Given the description of an element on the screen output the (x, y) to click on. 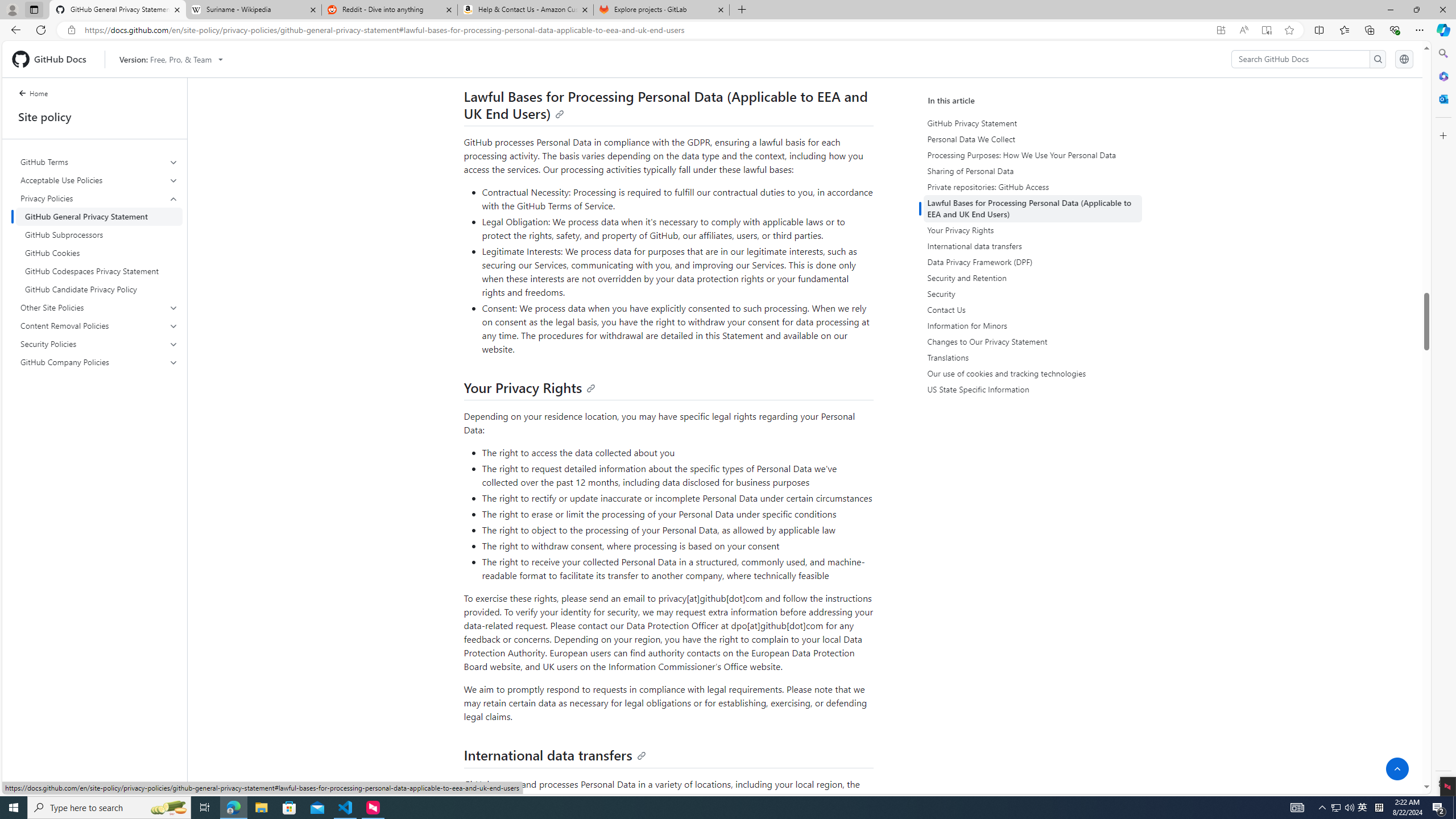
Acceptable Use Policies (99, 180)
Content Removal Policies (99, 325)
US State Specific Information (1032, 389)
The right to access the data collected about you (677, 452)
Contact Us (1032, 309)
GitHub Docs (53, 58)
Privacy Policies (99, 198)
GitHub Codespaces Privacy Statement (99, 271)
